Given the description of an element on the screen output the (x, y) to click on. 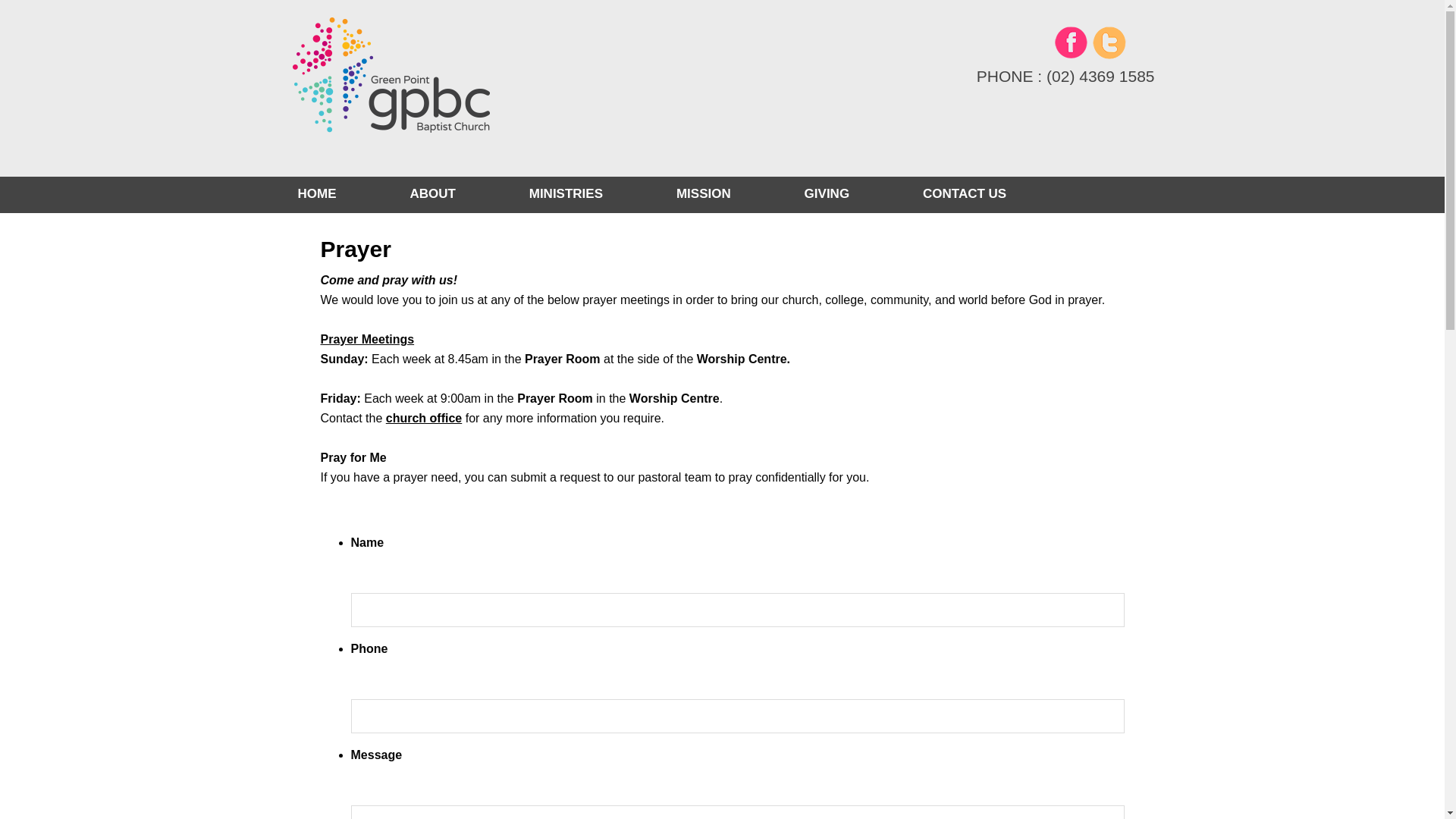
CONTACT US Element type: text (950, 194)
ABOUT Element type: text (431, 194)
GIVING Element type: text (826, 194)
MINISTRIES Element type: text (565, 194)
HOME Element type: text (329, 194)
GPBC Element type: text (440, 88)
MISSION Element type: text (702, 194)
church office Element type: text (423, 417)
